Given the description of an element on the screen output the (x, y) to click on. 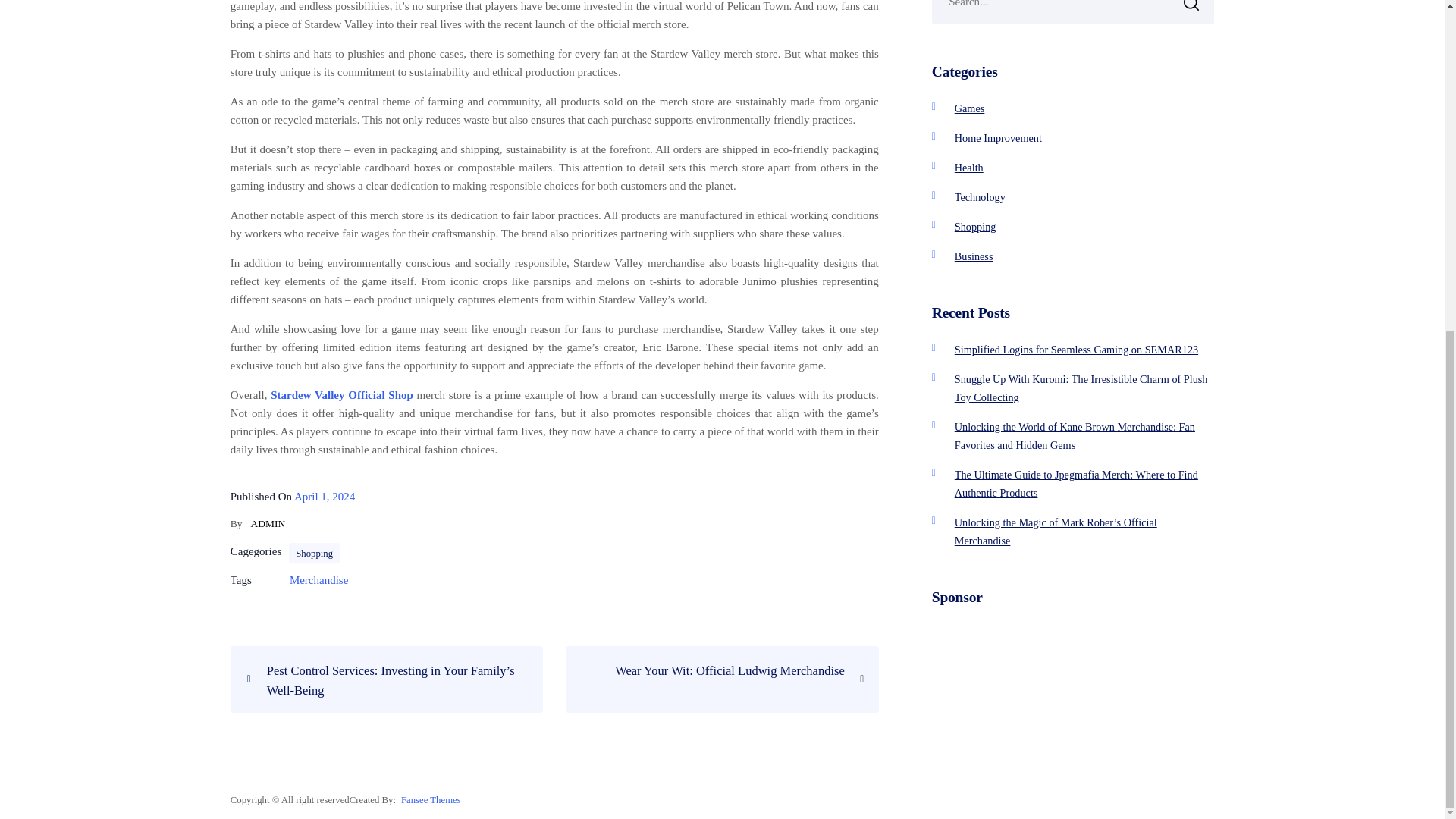
Shopping (710, 670)
April 1, 2024 (313, 553)
Business (324, 496)
Health (973, 256)
Simplified Logins for Seamless Gaming on SEMAR123 (969, 167)
Games (1076, 349)
Shopping (970, 108)
Technology (975, 226)
Merchandise (980, 196)
Home Improvement (318, 580)
Stardew Valley Official Shop (998, 137)
